Given the description of an element on the screen output the (x, y) to click on. 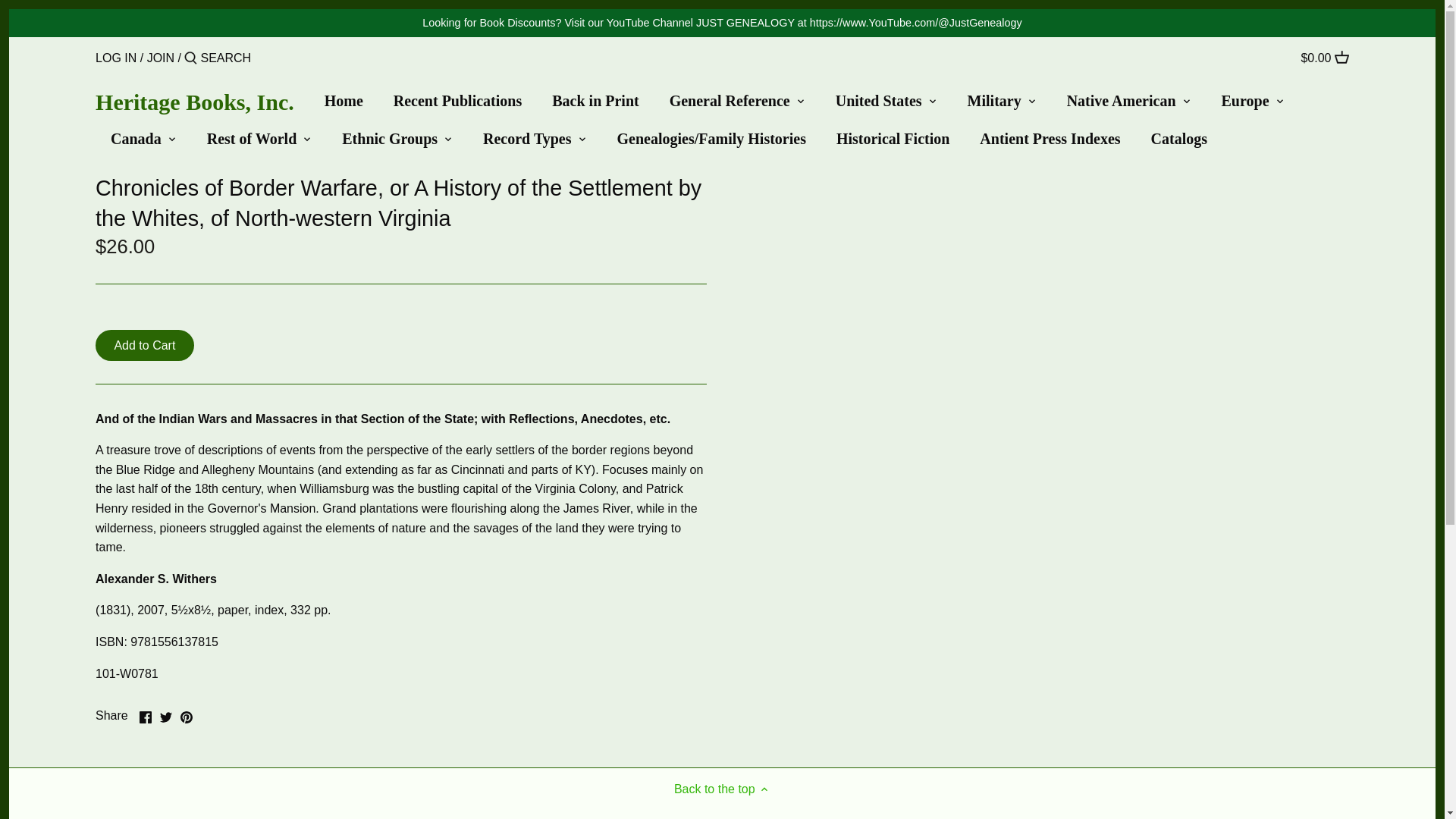
United States (879, 103)
Twitter (165, 717)
General Reference (729, 103)
Pinterest (186, 717)
Heritage Books, Inc. (195, 101)
Home (351, 103)
LOG IN (116, 57)
Recent Publications (457, 103)
Back in Print (595, 103)
JOIN (160, 57)
